Given the description of an element on the screen output the (x, y) to click on. 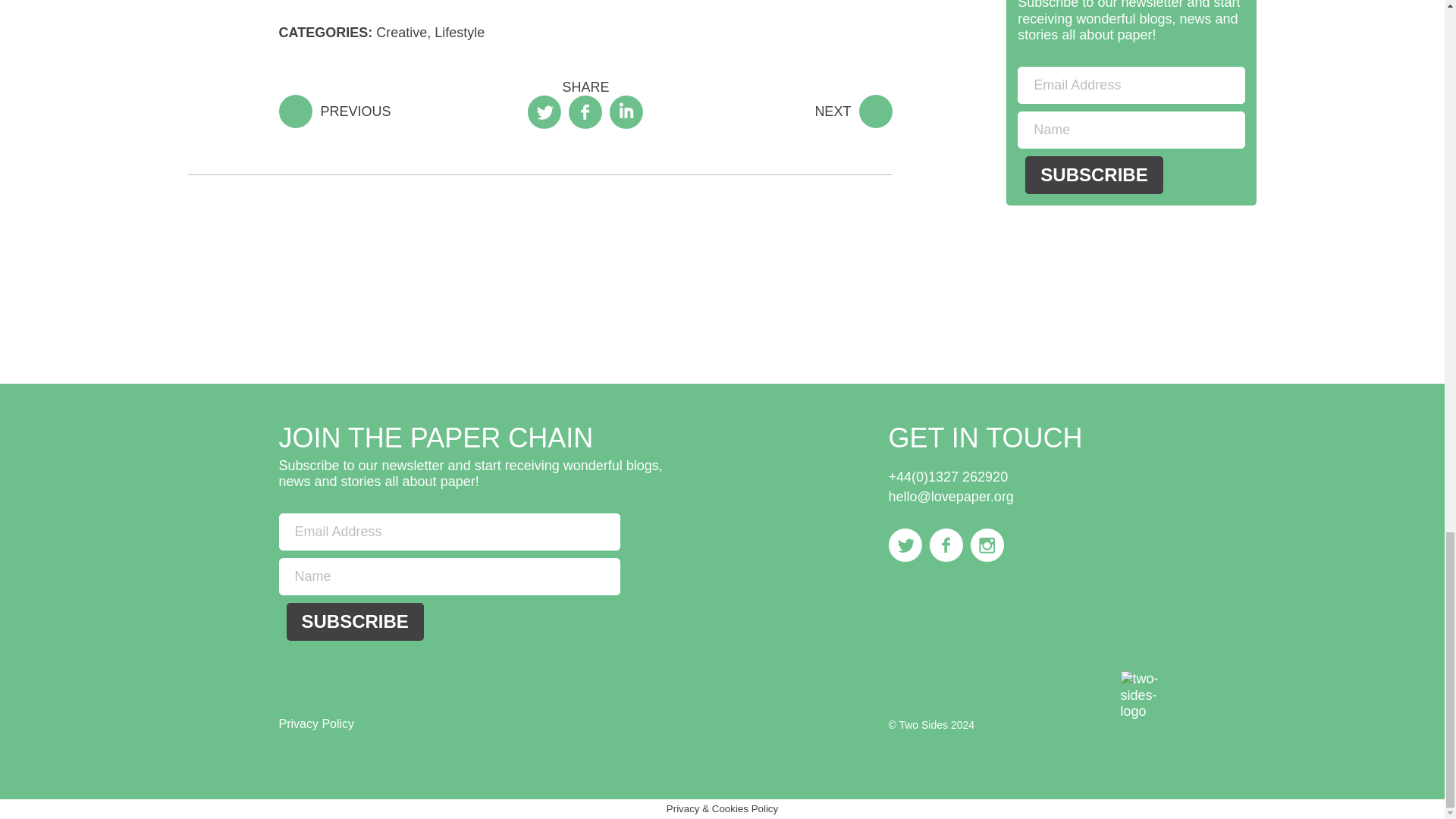
Instagram (987, 544)
Facebook (946, 544)
Twitter (904, 544)
